Given the description of an element on the screen output the (x, y) to click on. 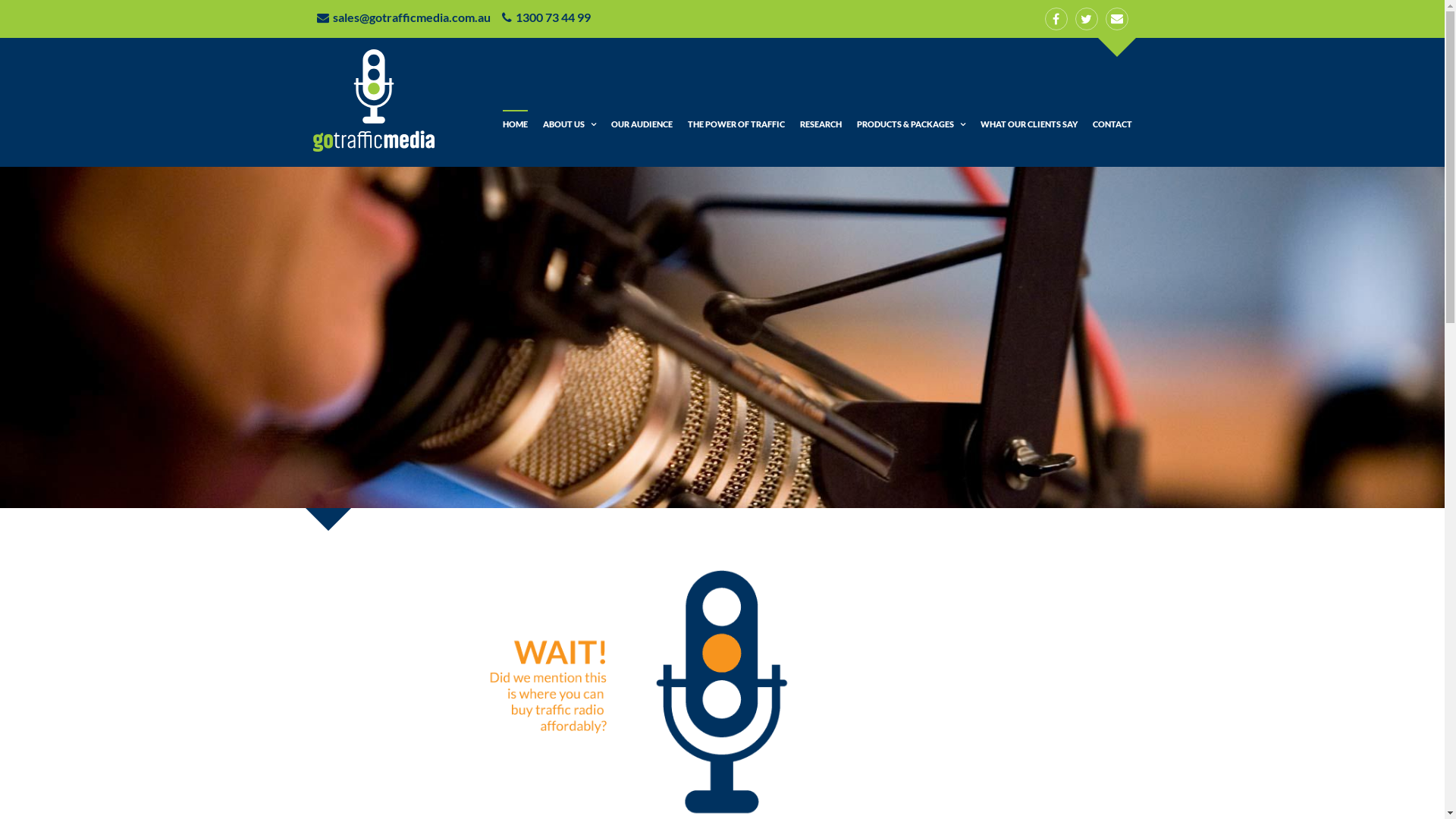
CONTACT Element type: text (1111, 123)
WHAT OUR CLIENTS SAY Element type: text (1027, 123)
PRODUCTS & PACKAGES Element type: text (910, 123)
RESEARCH Element type: text (819, 123)
OUR AUDIENCE Element type: text (641, 123)
THE POWER OF TRAFFIC Element type: text (735, 123)
ABOUT US Element type: text (569, 123)
HOME Element type: text (514, 123)
sales@gotrafficmedia.com.au Element type: text (404, 20)
